Given the description of an element on the screen output the (x, y) to click on. 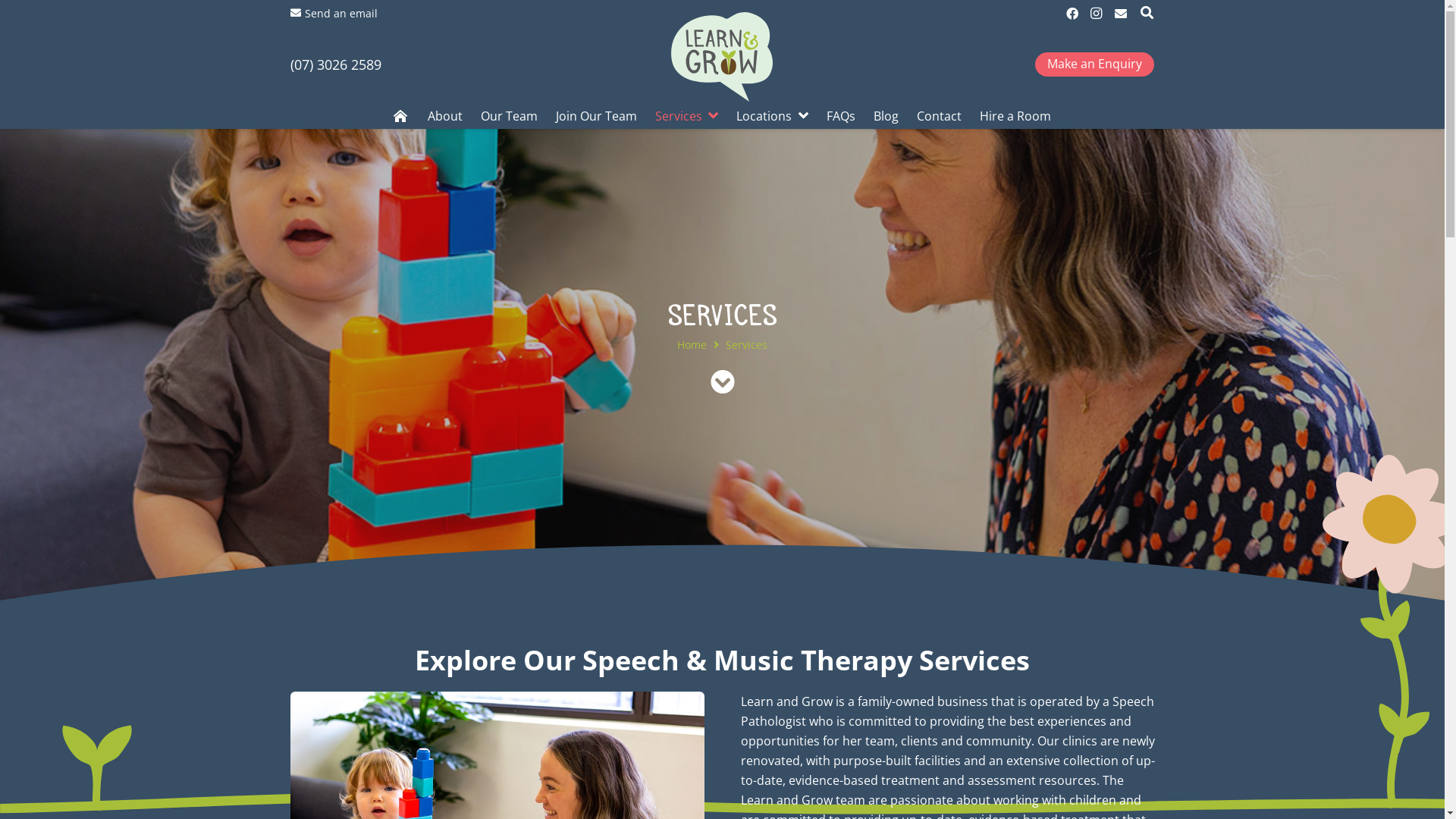
Our Team Element type: text (508, 115)
Contact Element type: text (938, 115)
About Element type: text (444, 115)
Send an email Element type: text (333, 13)
Blog Element type: text (885, 115)
Home Element type: text (691, 344)
Services Element type: text (686, 115)
Email Element type: hover (1120, 13)
FAQs Element type: text (840, 115)
Facebook Element type: hover (1072, 13)
Hire a Room Element type: text (1015, 115)
Services Element type: text (746, 344)
Locations Element type: text (771, 115)
Instagram Element type: hover (1096, 13)
Make an Enquiry Element type: text (1094, 64)
Join Our Team Element type: text (596, 115)
